Given the description of an element on the screen output the (x, y) to click on. 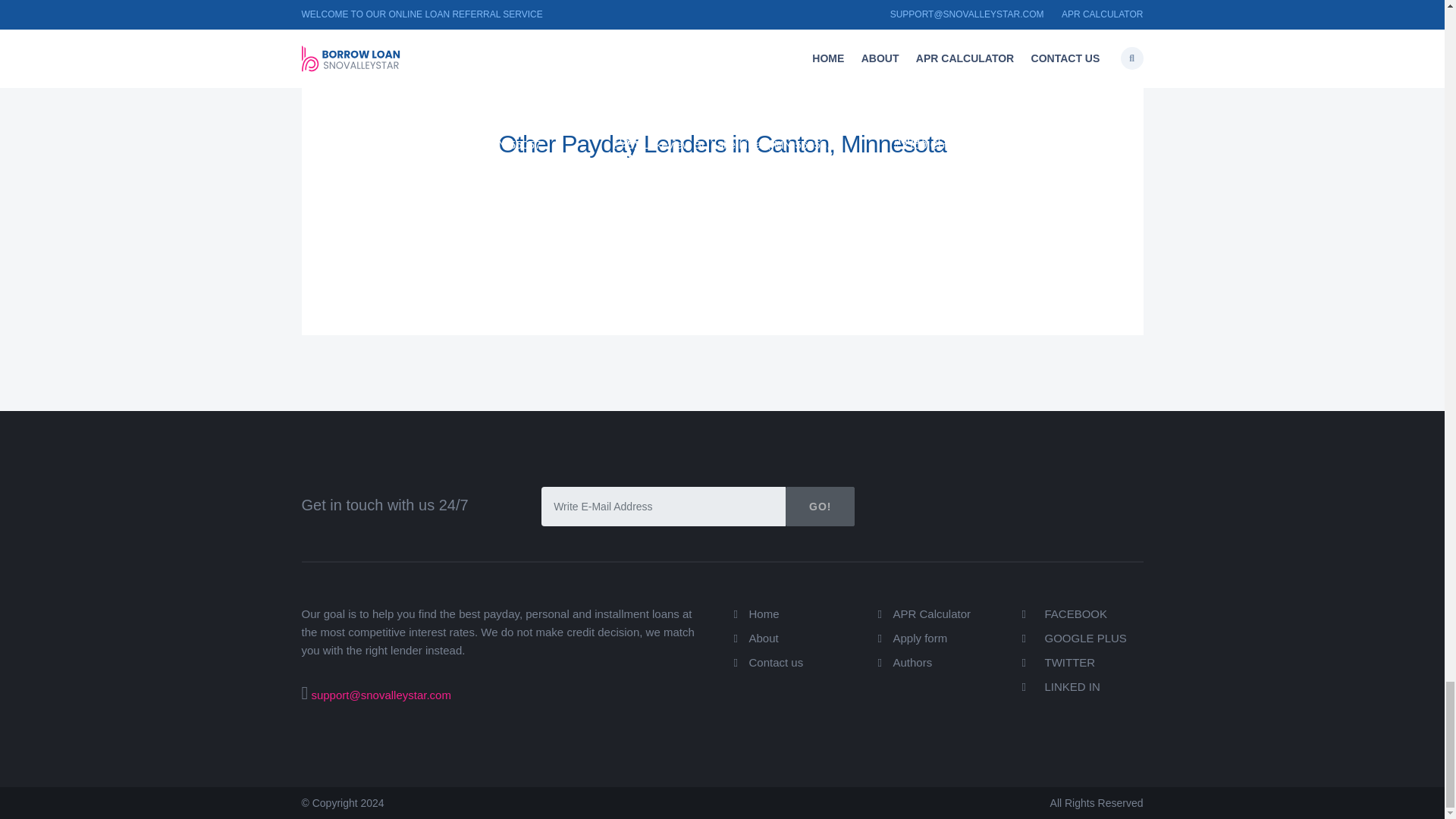
Choice Bank (936, 117)
Contact us (776, 662)
First National Bank Bemidji (984, 94)
Home (763, 613)
U.S. Bank ATM - Holiday Store (436, 94)
Central Minnesota Credit Union (718, 94)
About (763, 637)
Bank of the West (390, 139)
GO! (820, 506)
Citizens Alliance Bank (687, 117)
Citizens Alliance Bank (687, 158)
